Given the description of an element on the screen output the (x, y) to click on. 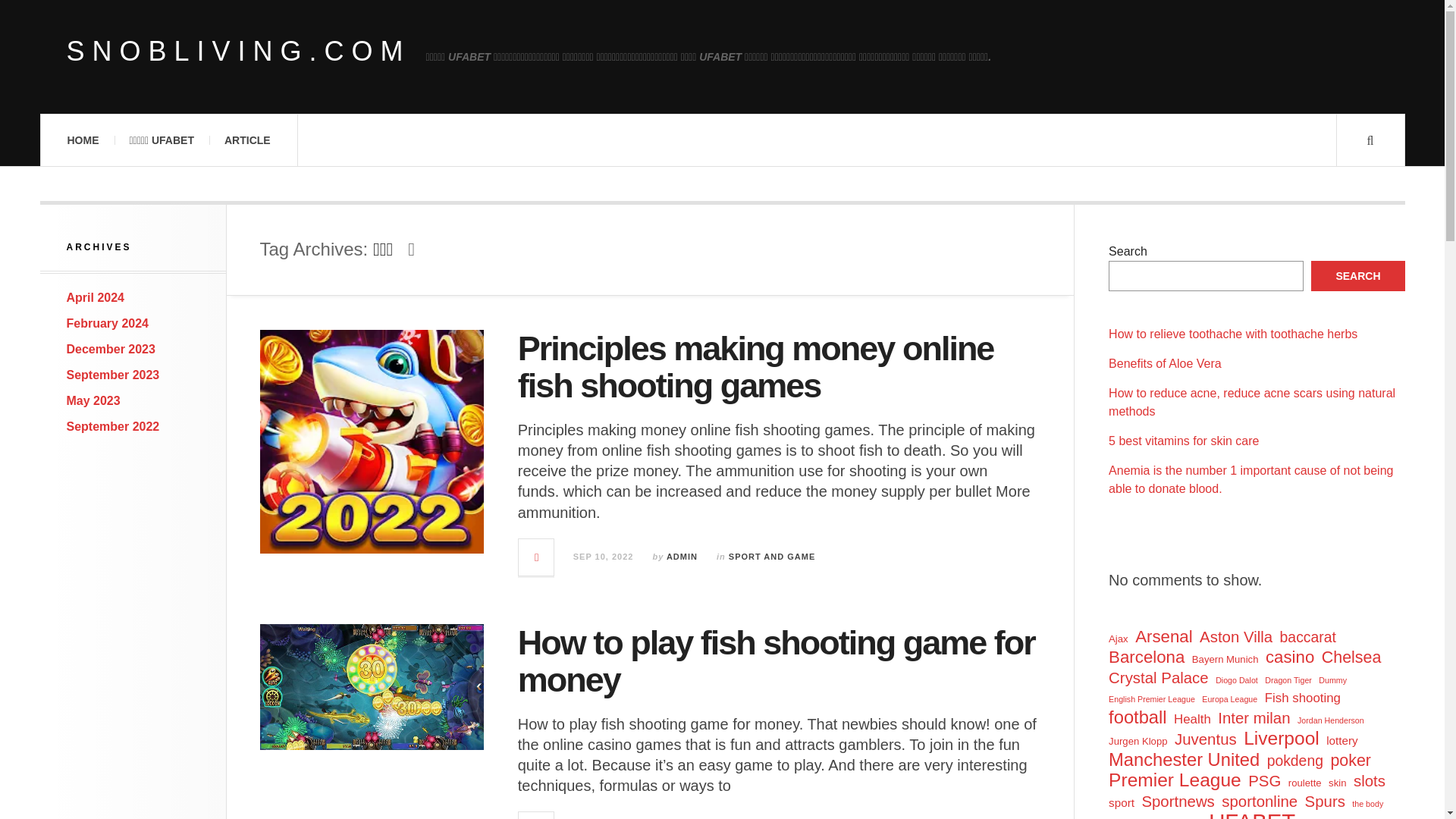
Read More... (536, 815)
HOME (81, 140)
Posts by admin (681, 556)
ARTICLE (247, 140)
snobliving.com (238, 51)
May 2023 (93, 400)
April 2024 (94, 297)
December 2023 (110, 349)
SPORT AND GAME (772, 556)
Read More... (536, 556)
SNOBLIVING.COM (238, 51)
ADMIN (681, 556)
View all posts in Sport and Game (772, 556)
September 2023 (113, 374)
How to play fish shooting game for money  (776, 661)
